Given the description of an element on the screen output the (x, y) to click on. 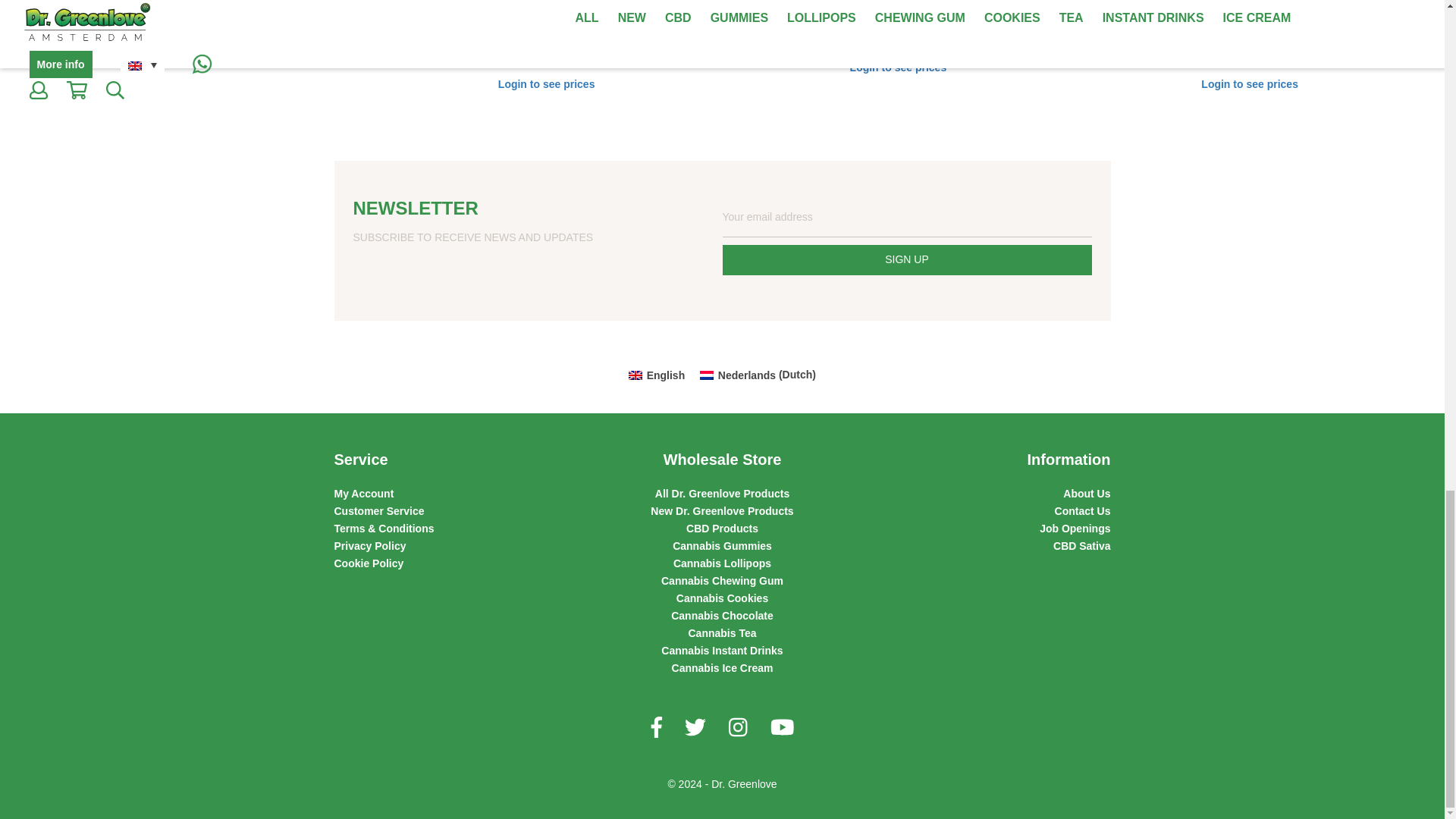
CBD CANNABIS BEARS (193, 20)
Sign up (906, 259)
Login to see prices (897, 67)
Login to see prices (193, 51)
Login to see prices (546, 84)
